Given the description of an element on the screen output the (x, y) to click on. 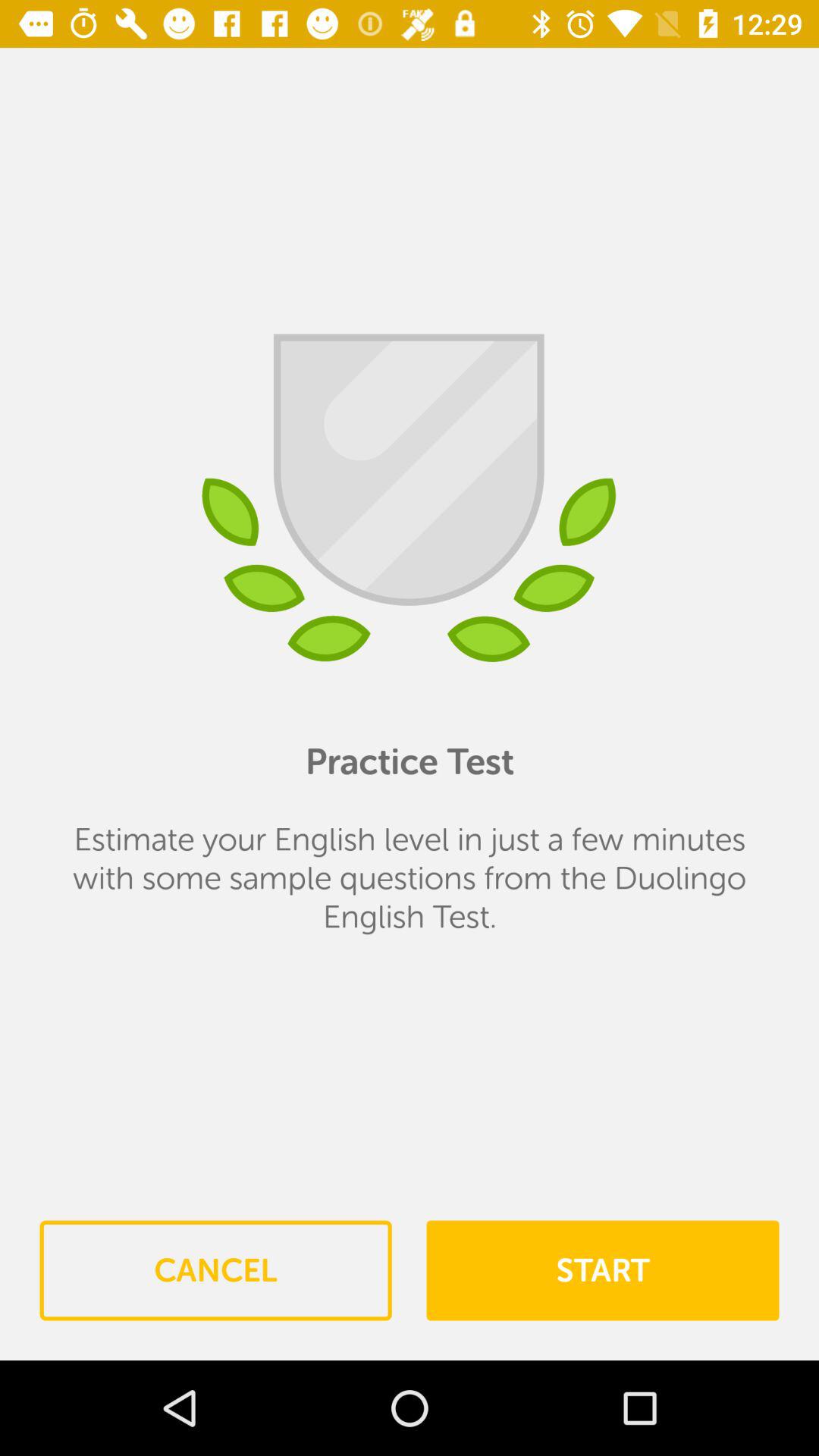
select the icon below the estimate your english (215, 1270)
